Given the description of an element on the screen output the (x, y) to click on. 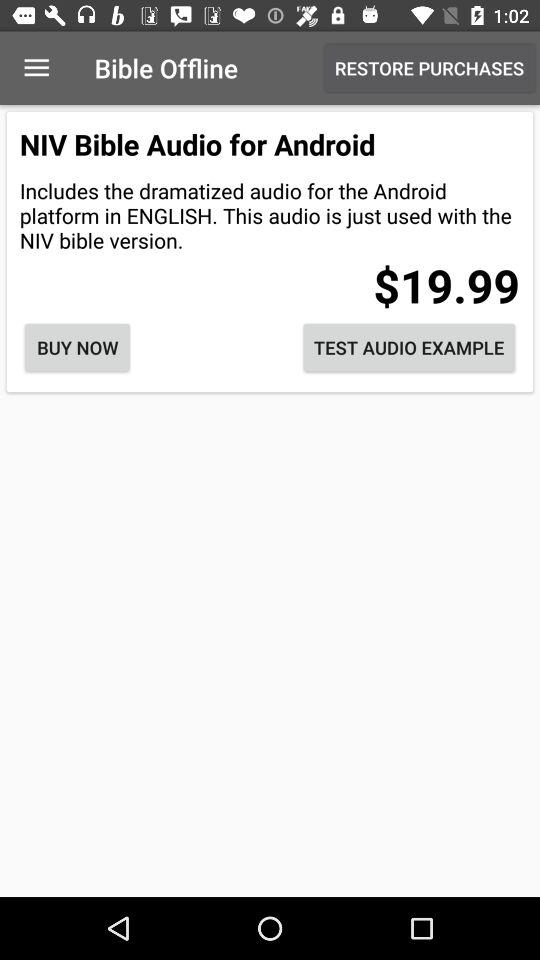
press the item above niv bible audio icon (36, 68)
